Given the description of an element on the screen output the (x, y) to click on. 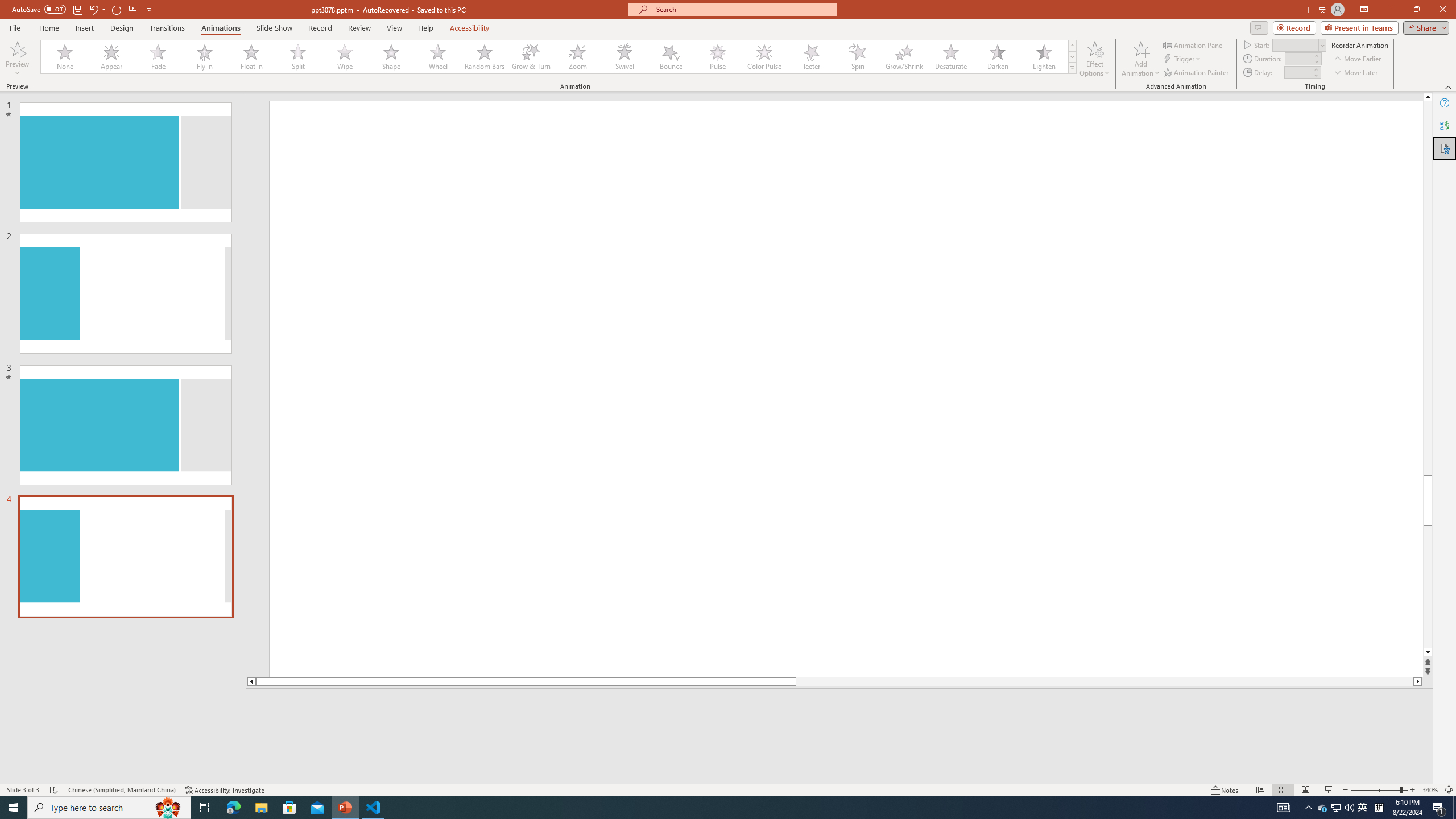
Grow & Turn (531, 56)
Fly In (205, 56)
